Given the description of an element on the screen output the (x, y) to click on. 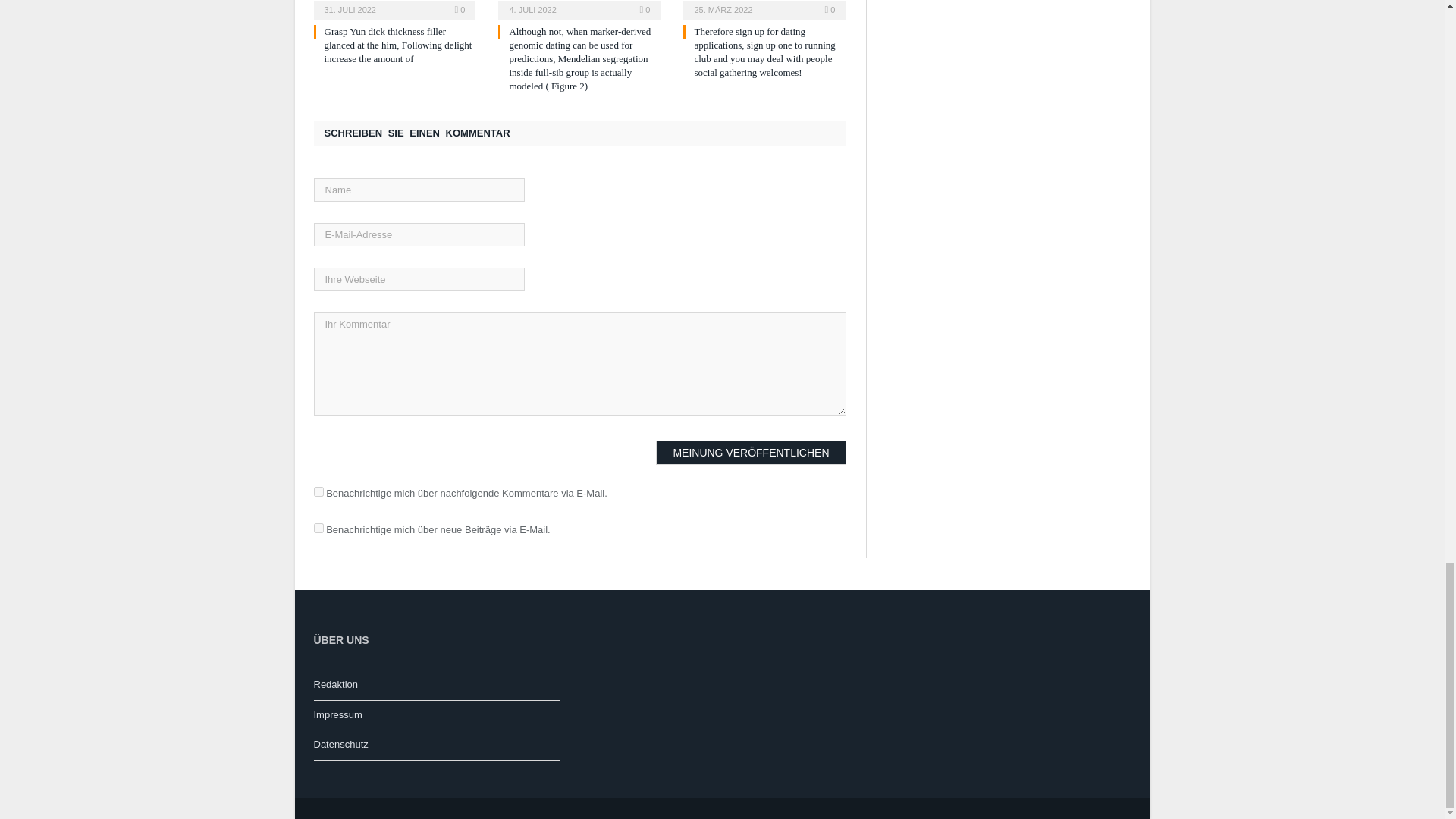
subscribe (318, 528)
subscribe (318, 491)
